Given the description of an element on the screen output the (x, y) to click on. 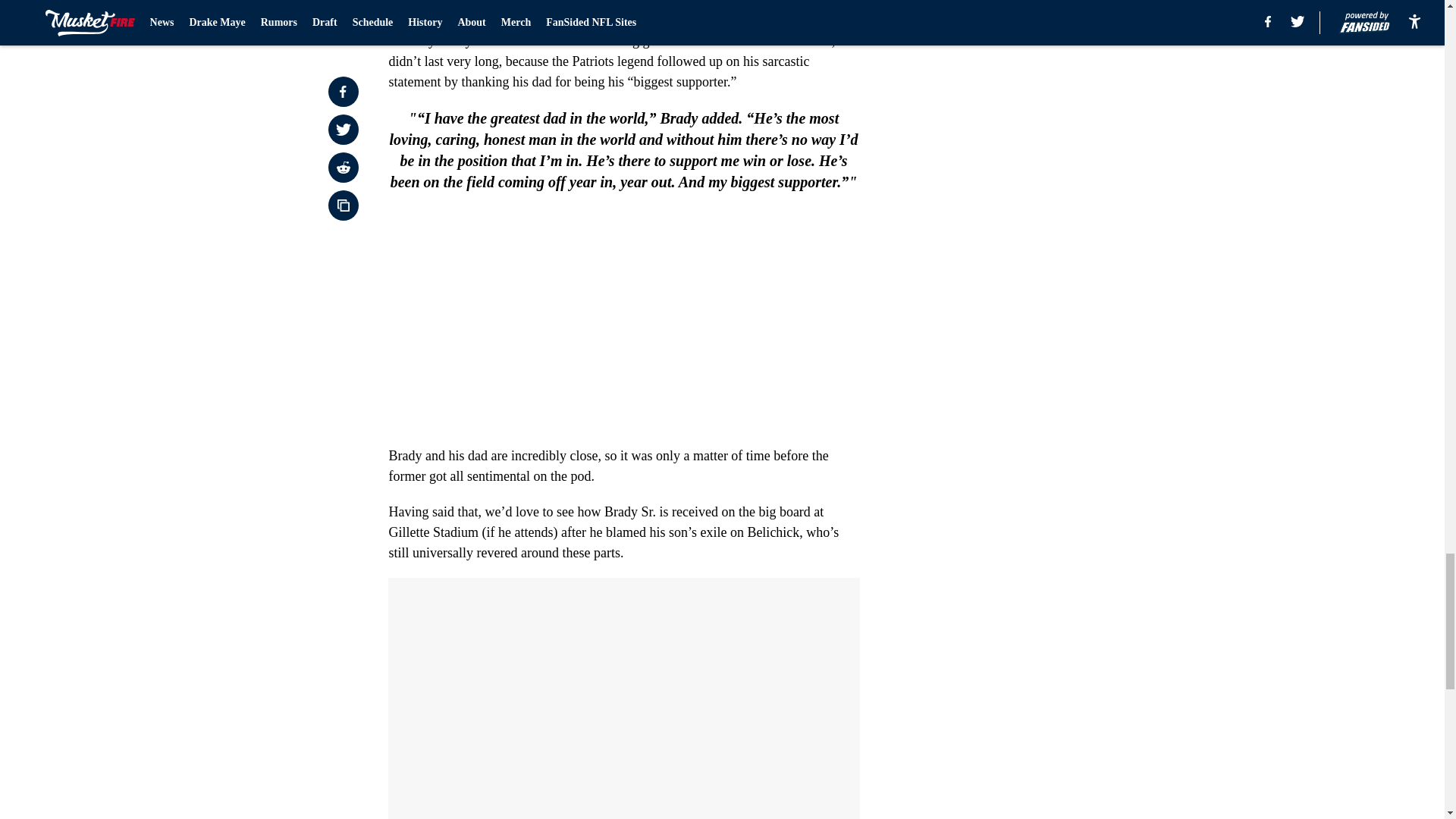
September 28, 2021 (664, 1)
